Given the description of an element on the screen output the (x, y) to click on. 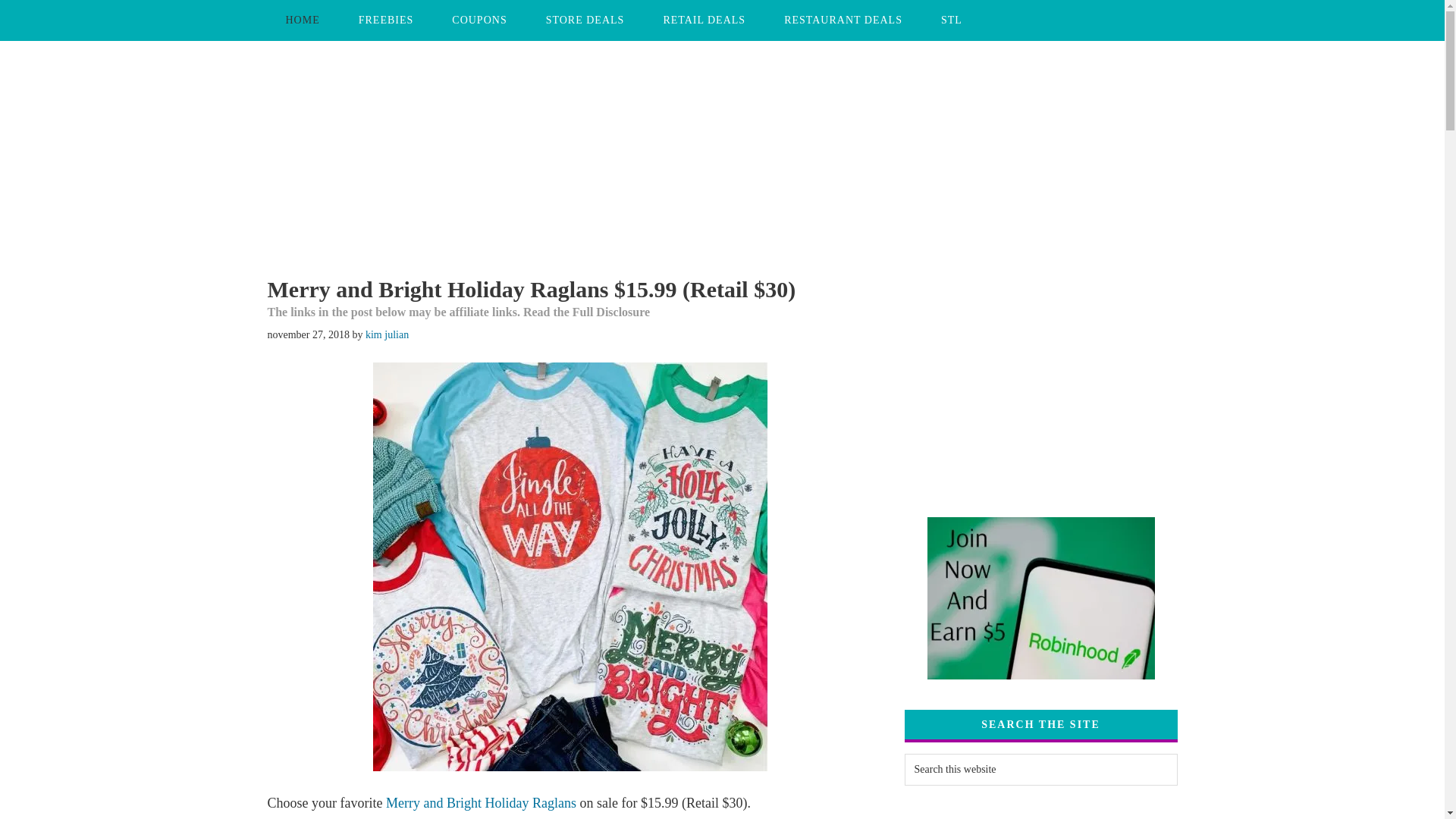
Advertisement (900, 97)
